Given the description of an element on the screen output the (x, y) to click on. 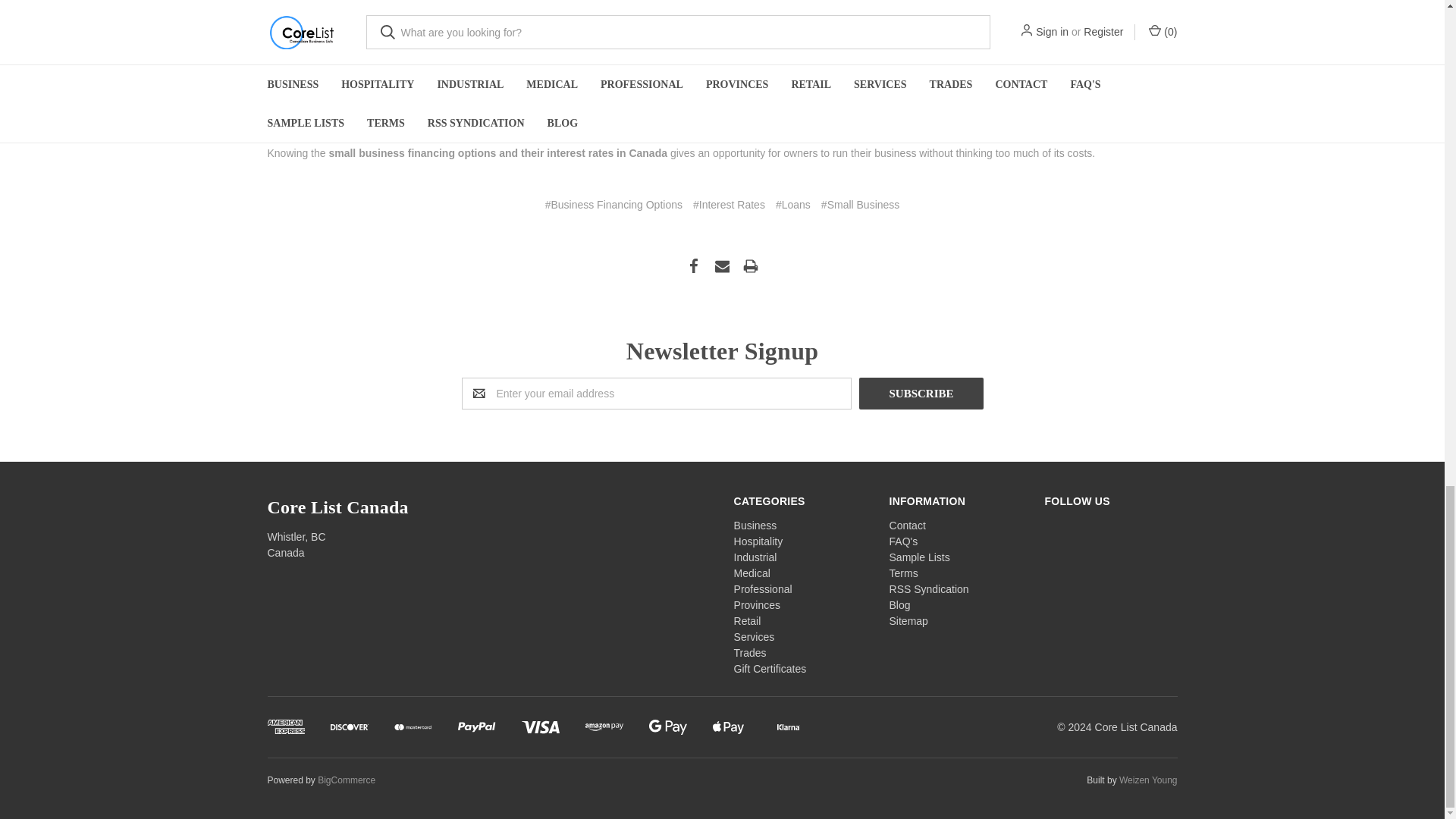
Business (755, 525)
Subscribe (920, 393)
Subscribe (920, 393)
